Given the description of an element on the screen output the (x, y) to click on. 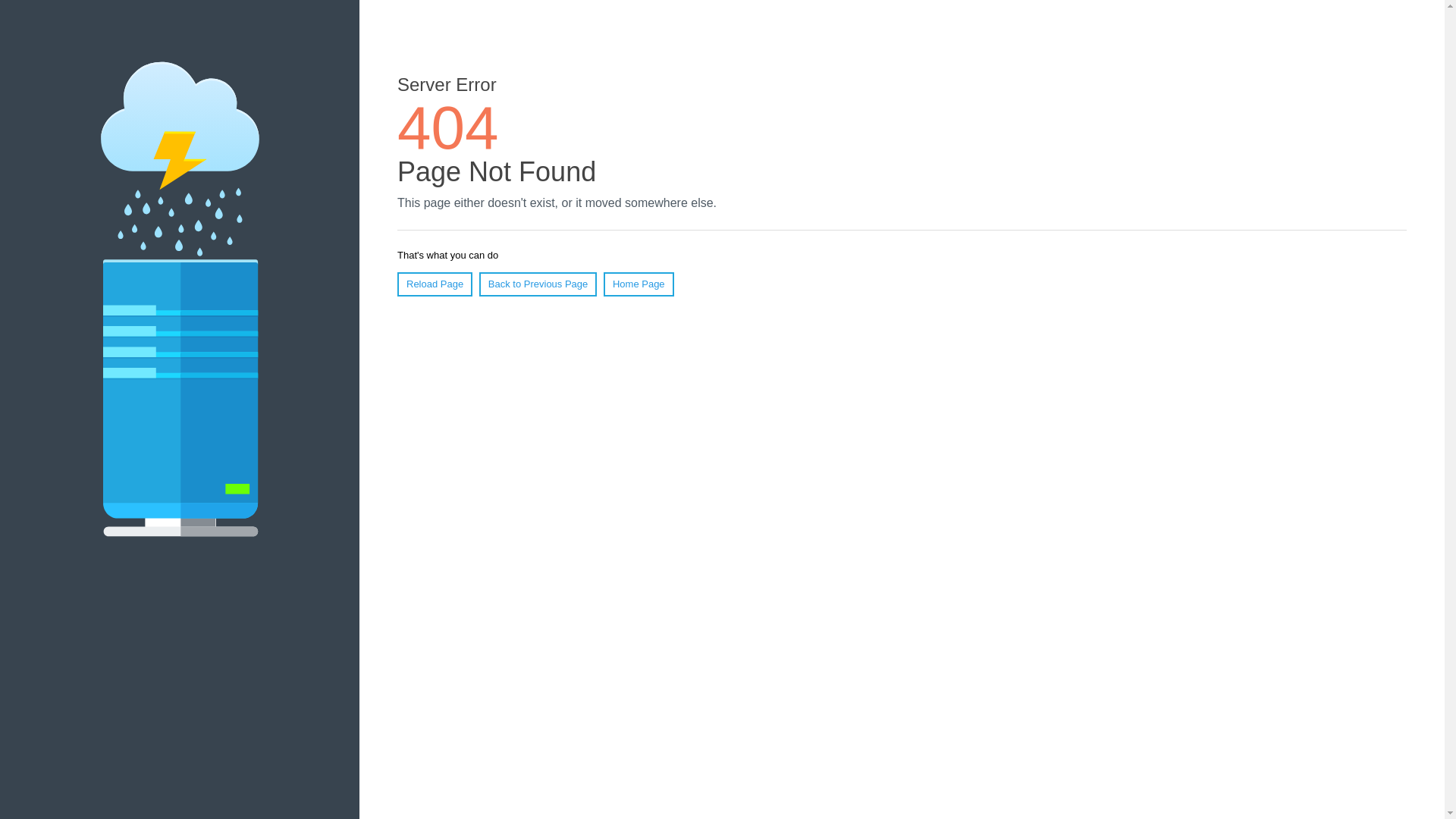
Reload Page Element type: text (434, 284)
Back to Previous Page Element type: text (538, 284)
Home Page Element type: text (638, 284)
